Given the description of an element on the screen output the (x, y) to click on. 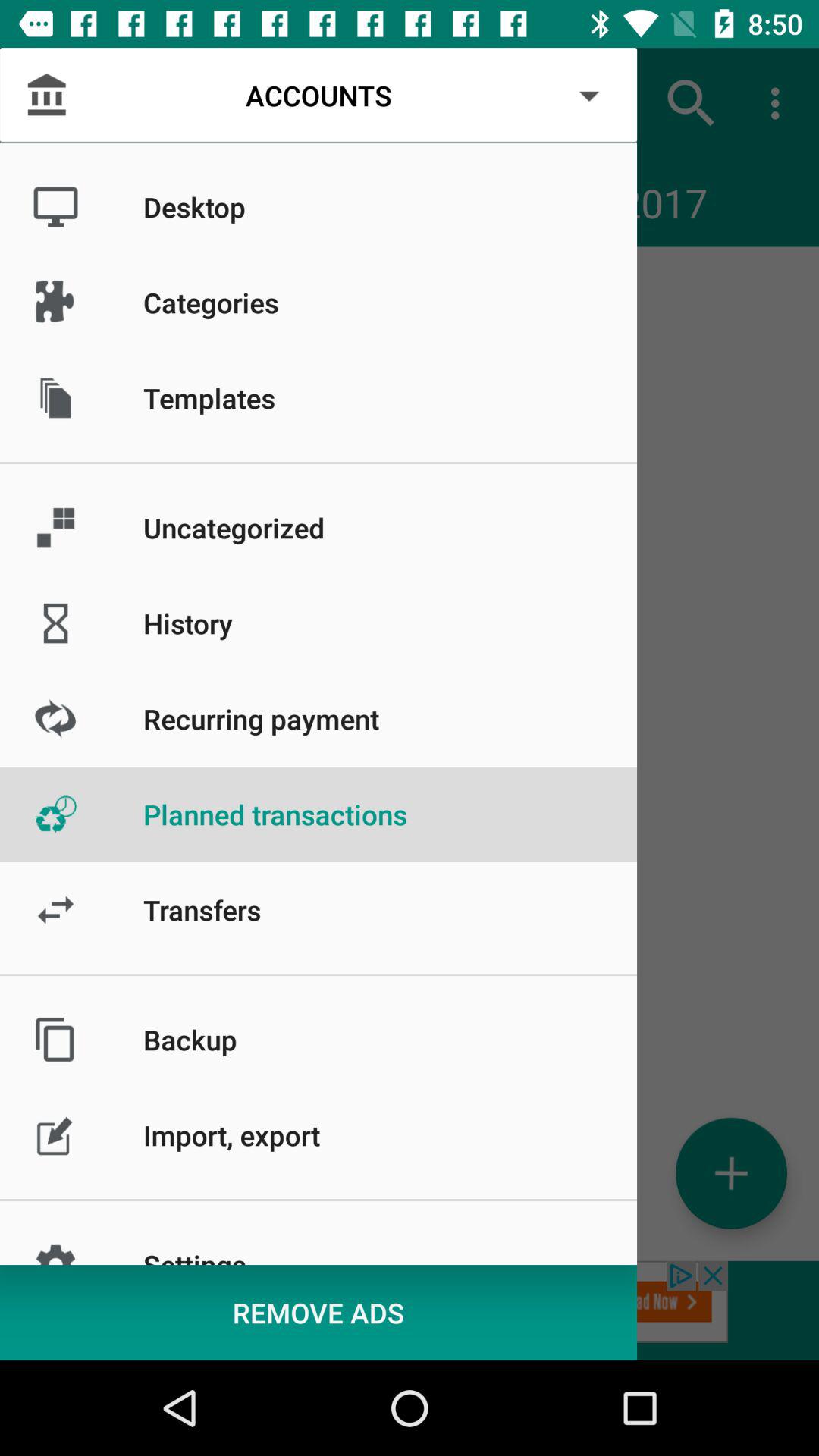
open icon below the settings icon (318, 1312)
